Given the description of an element on the screen output the (x, y) to click on. 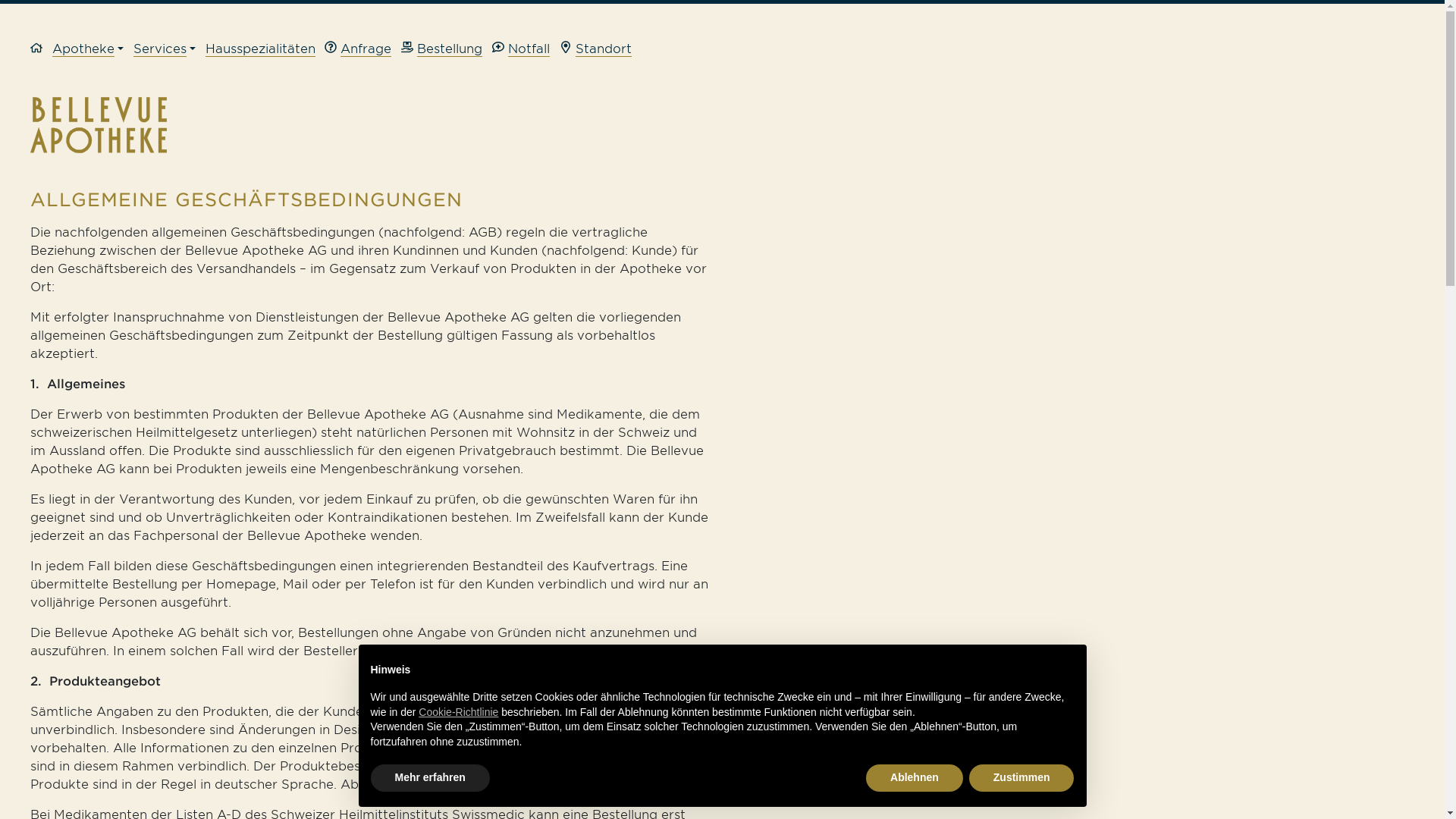
Home Element type: hover (41, 49)
Zum Inhalt springen Element type: text (1443, 0)
Standort Element type: text (595, 49)
Apotheke Element type: text (92, 49)
Notfall Element type: text (525, 49)
Zustimmen Element type: text (1021, 777)
Cookie-Richtlinie Element type: text (458, 712)
Services Element type: text (169, 49)
Bestellung Element type: text (446, 49)
Ablehnen Element type: text (914, 777)
Anfrage Element type: text (362, 49)
Mehr erfahren Element type: text (429, 777)
